Given the description of an element on the screen output the (x, y) to click on. 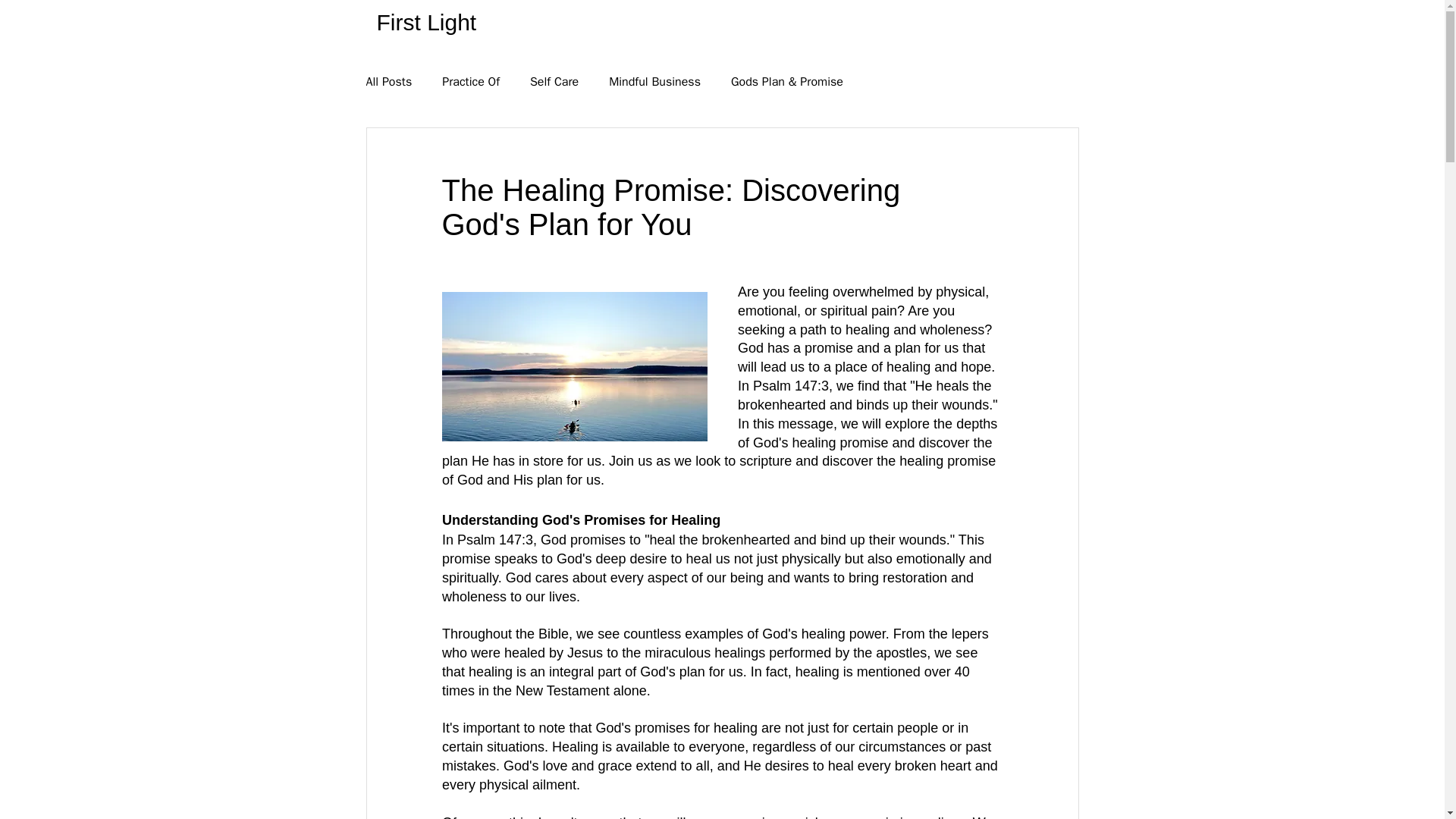
Practice Of (470, 82)
Mindful Business (654, 82)
Self Care (553, 82)
All Posts (388, 82)
